Given the description of an element on the screen output the (x, y) to click on. 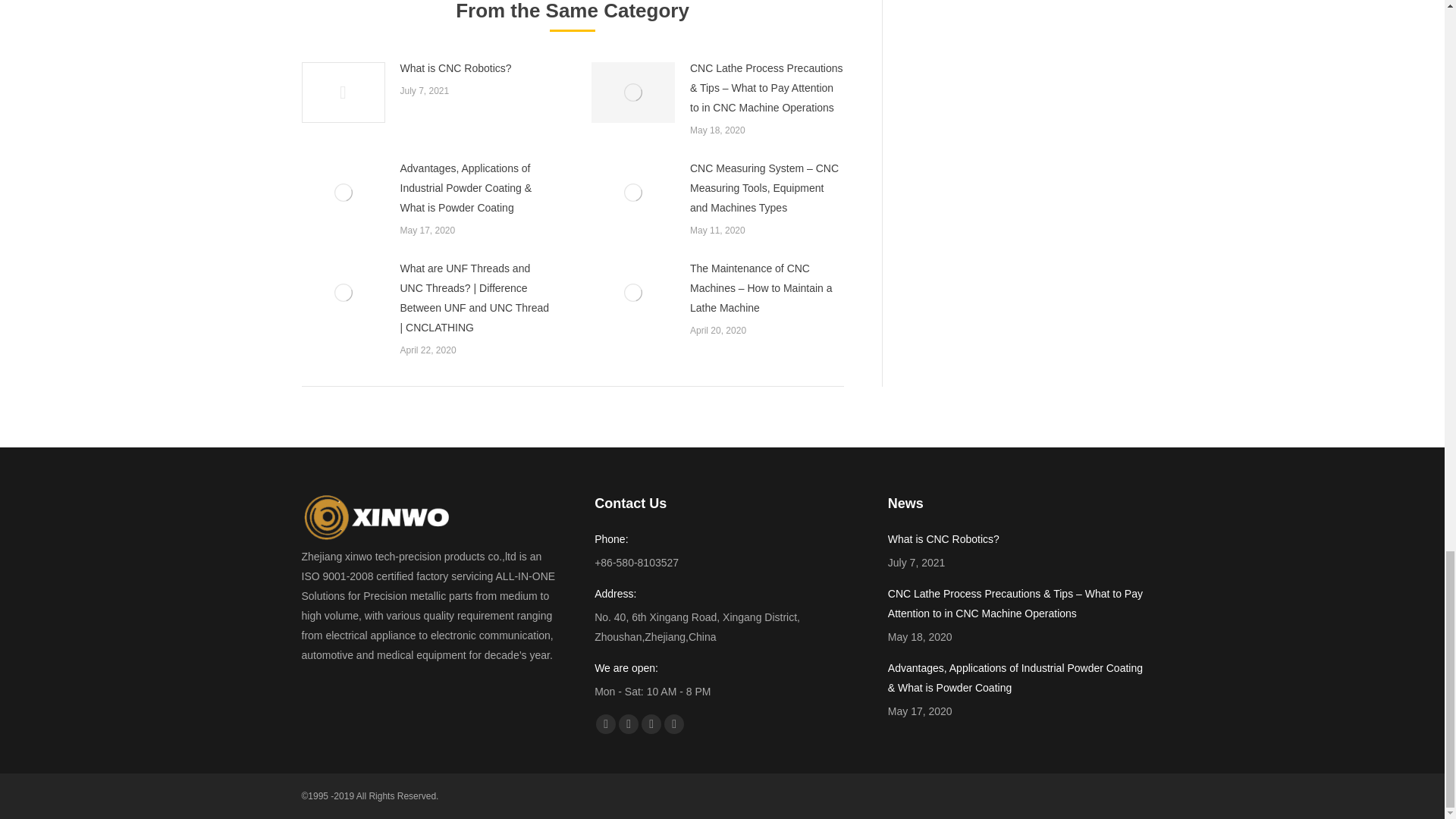
YouTube page opens in new window (628, 723)
Instagram page opens in new window (673, 723)
Facebook page opens in new window (605, 723)
Linkedin page opens in new window (651, 723)
